Given the description of an element on the screen output the (x, y) to click on. 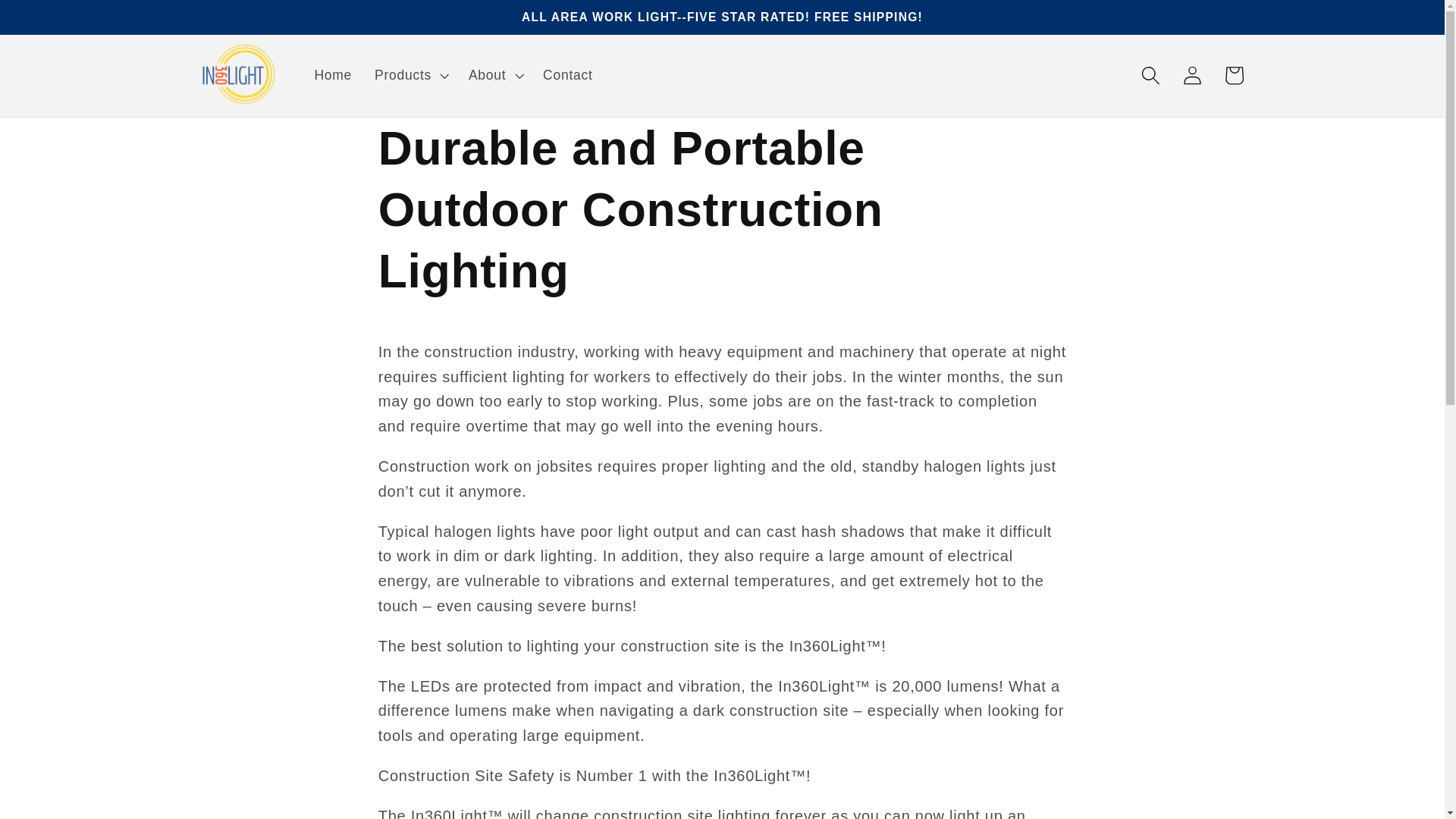
Contact (567, 75)
Skip to content (58, 22)
Log in (1192, 75)
Cart (1233, 75)
Home (332, 75)
